Given the description of an element on the screen output the (x, y) to click on. 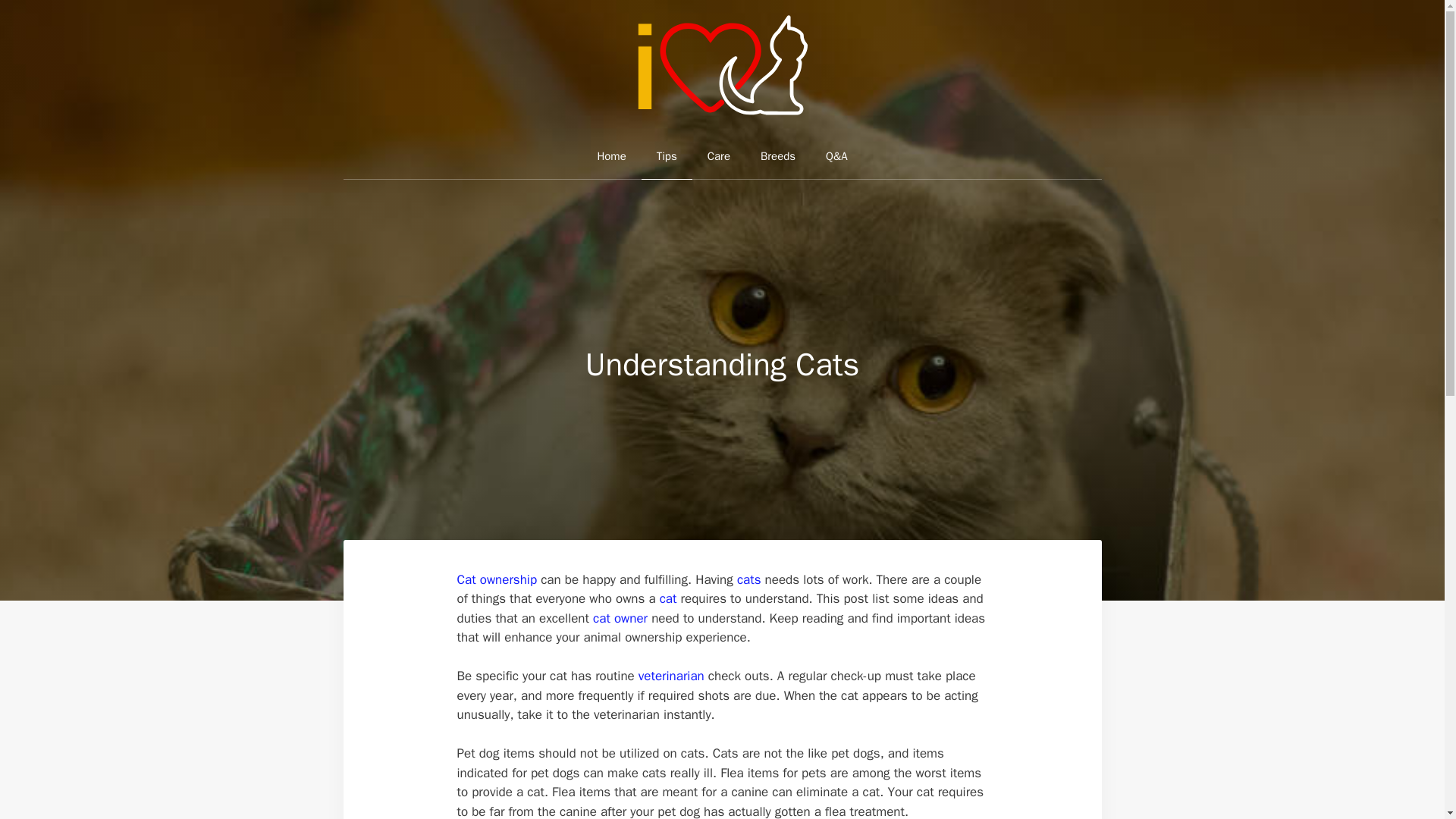
Breeds (777, 156)
Tips (667, 156)
cat (668, 598)
Care (719, 156)
cat owner (619, 618)
Home (610, 156)
cats (748, 579)
veterinarian (671, 675)
Cat ownership (497, 579)
